Given the description of an element on the screen output the (x, y) to click on. 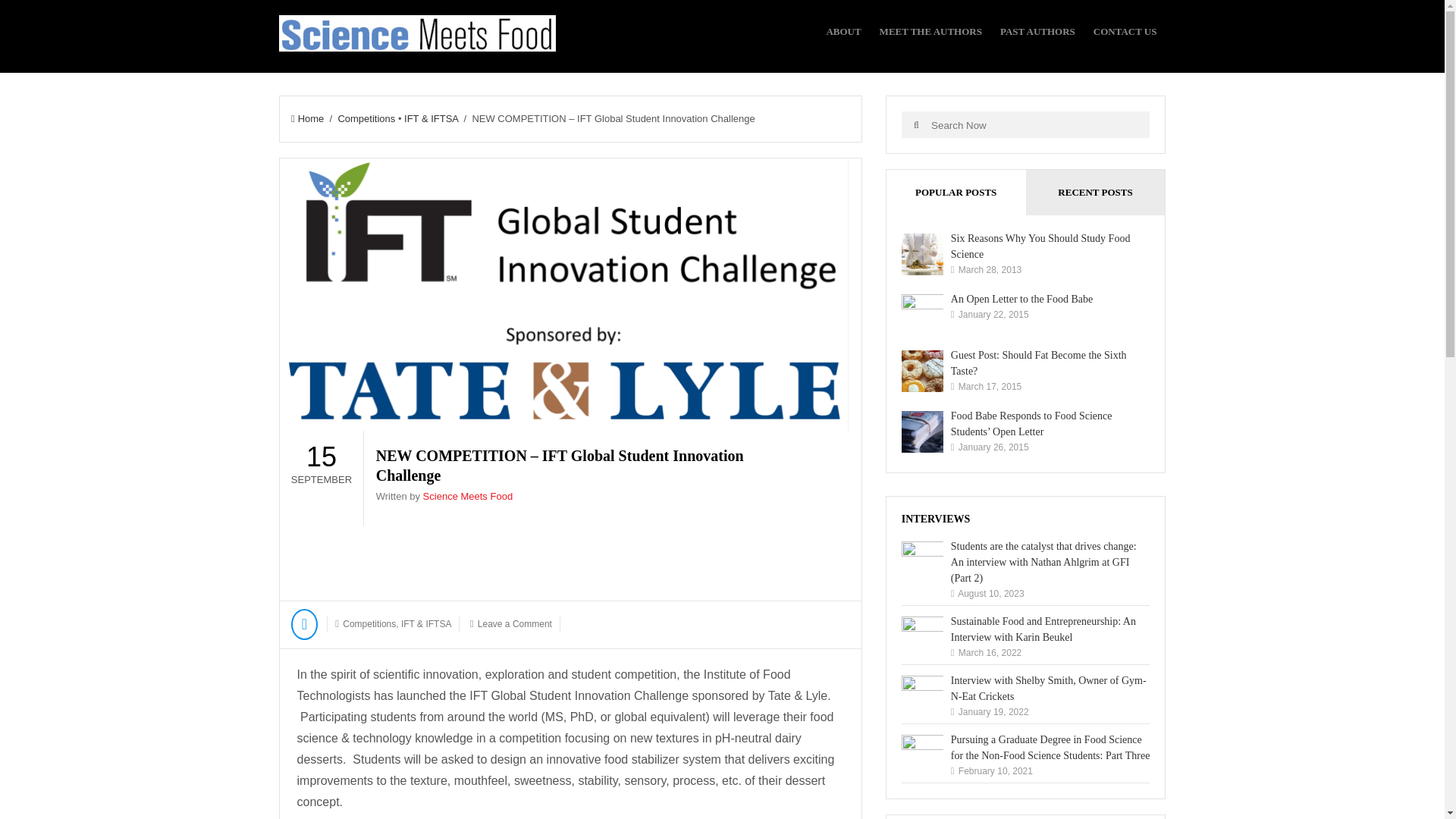
Home (307, 118)
ABOUT (842, 31)
Competitions (365, 118)
CONTACT US (1125, 31)
RECENT POSTS (1096, 192)
Science Meets Food (468, 496)
MEET THE AUTHORS (930, 31)
Guest Post: Should Fat Become the Sixth Taste? (1038, 362)
An Open Letter to the Food Babe (1021, 298)
Six Reasons Why You Should Study Food Science (1040, 246)
